Given the description of an element on the screen output the (x, y) to click on. 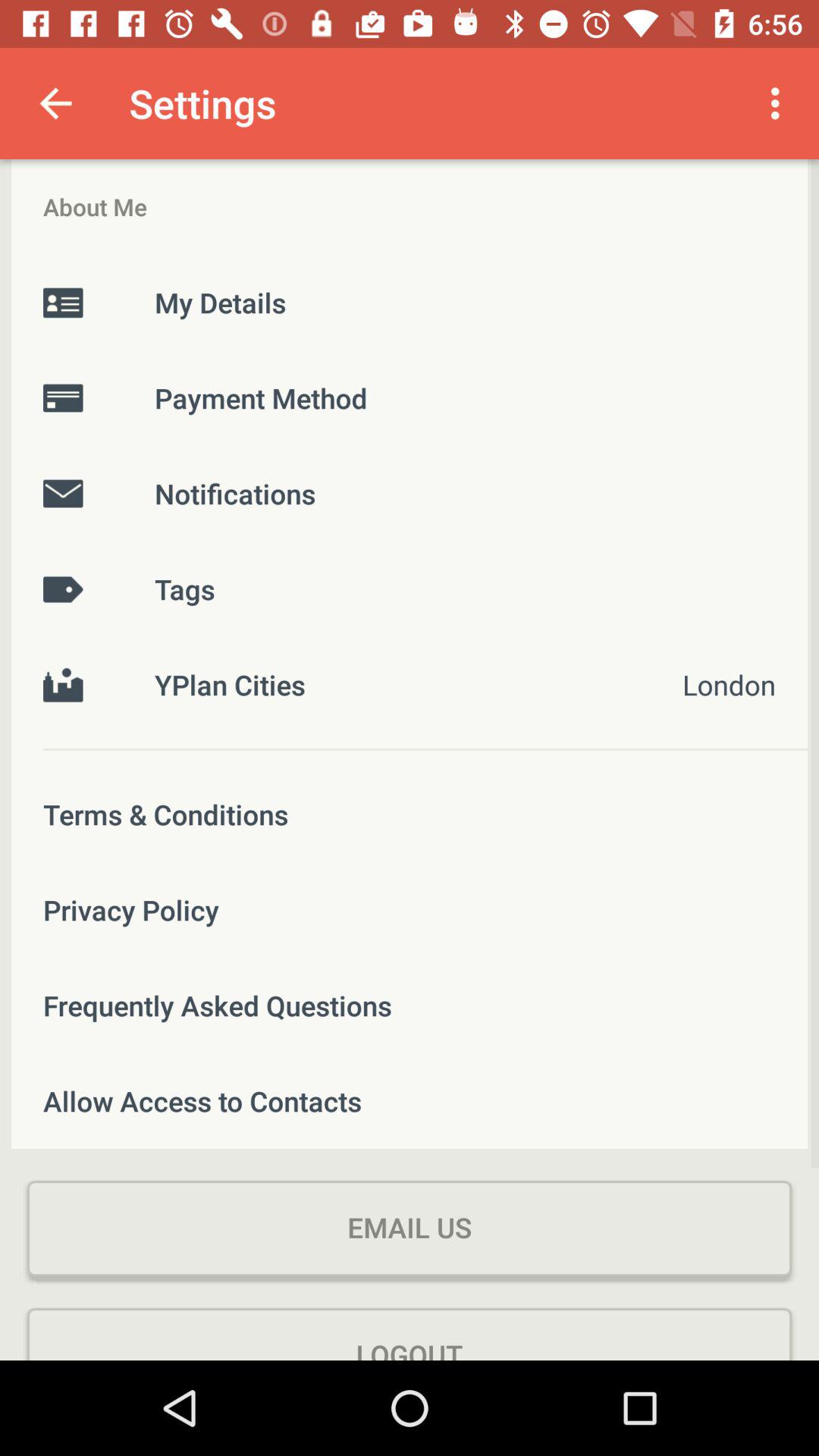
click terms & conditions (409, 814)
